Given the description of an element on the screen output the (x, y) to click on. 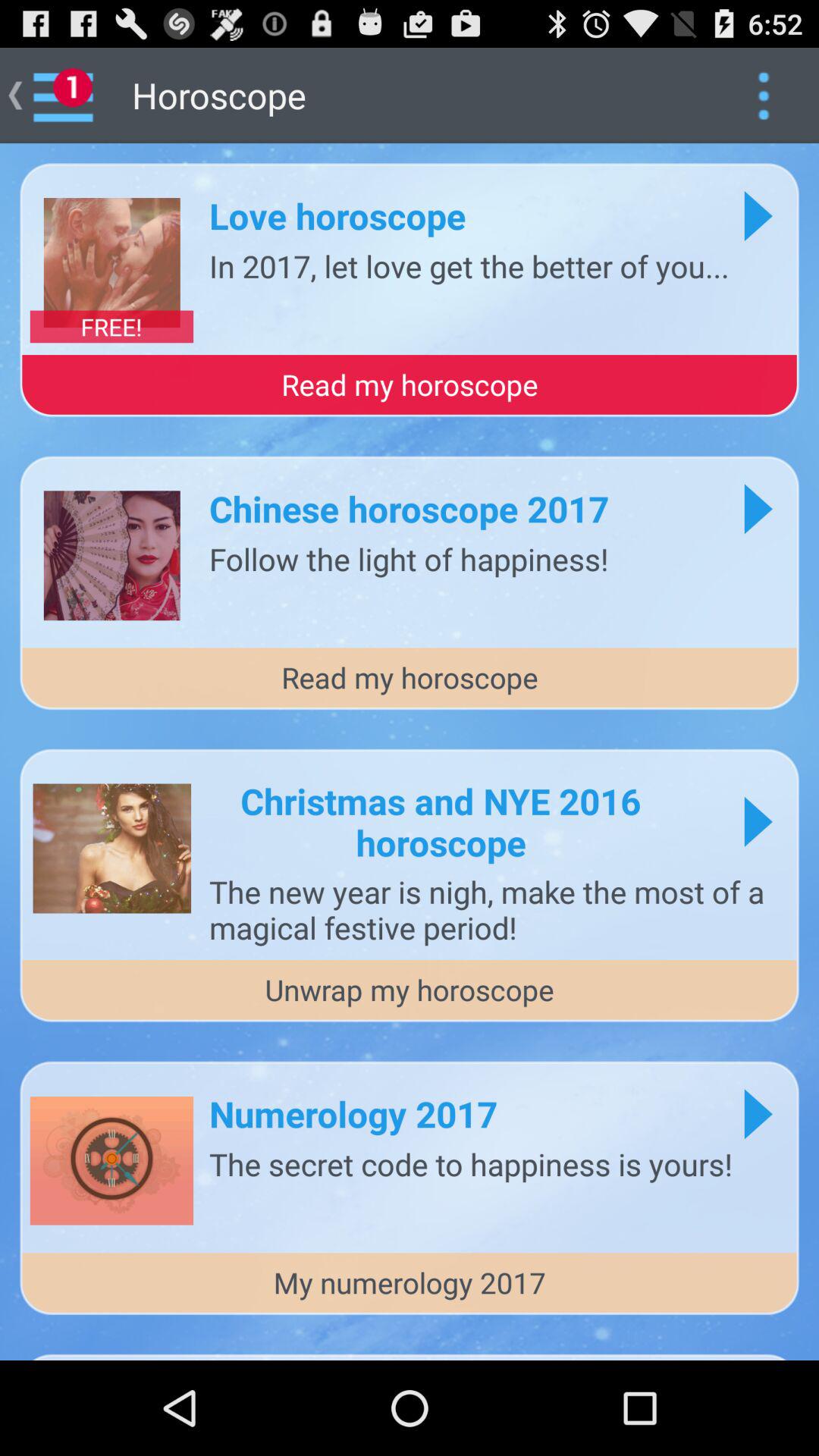
jump until the new year item (495, 909)
